Given the description of an element on the screen output the (x, y) to click on. 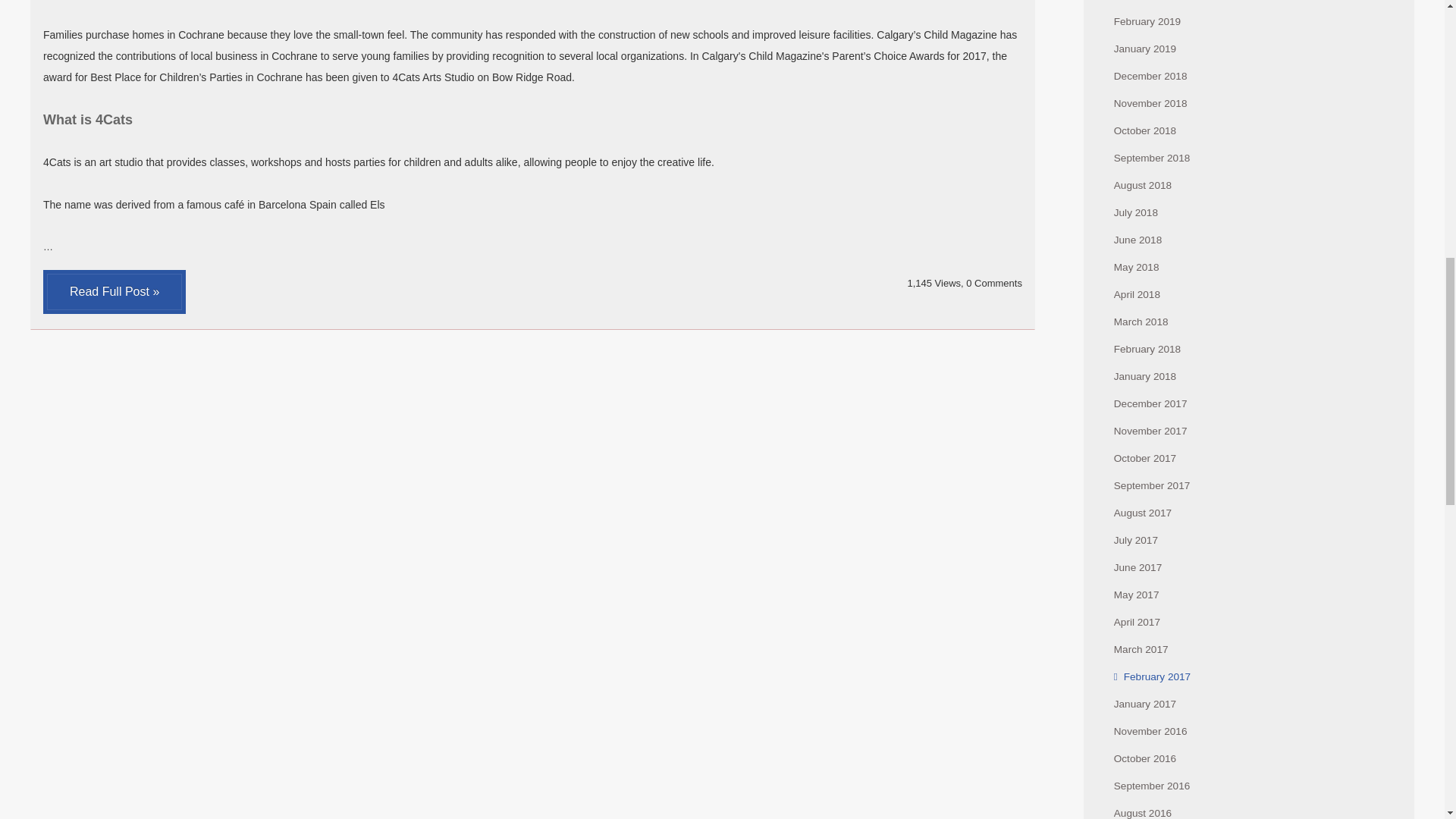
Read Full Post (114, 291)
